Given the description of an element on the screen output the (x, y) to click on. 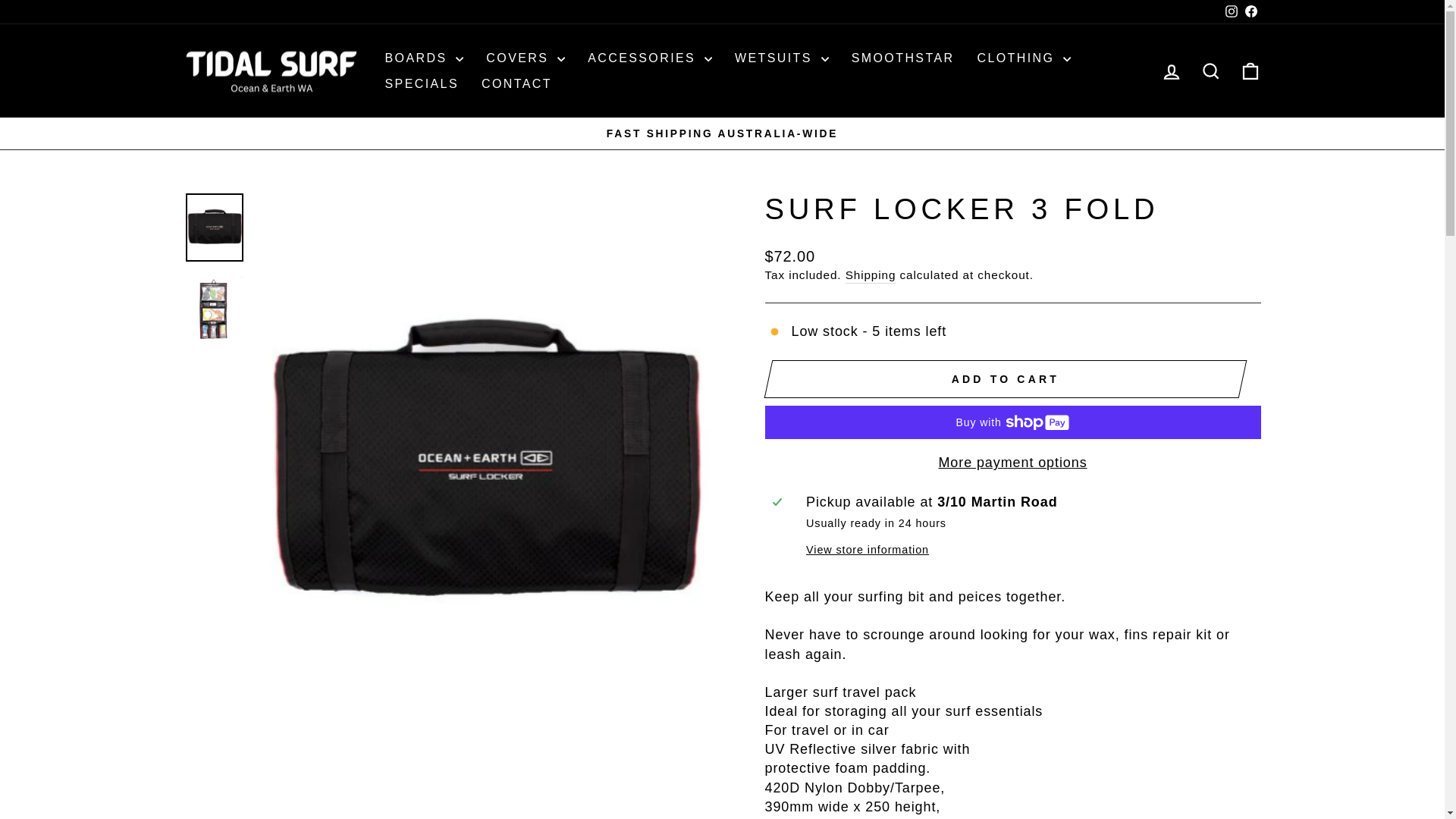
Tidal Surf on Facebook (1250, 11)
Tidal Surf on Instagram (1230, 11)
ICON-BAG-MINIMAL (1249, 70)
ICON-SEARCH (1210, 70)
ACCOUNT (1170, 71)
instagram (1231, 10)
